Given the description of an element on the screen output the (x, y) to click on. 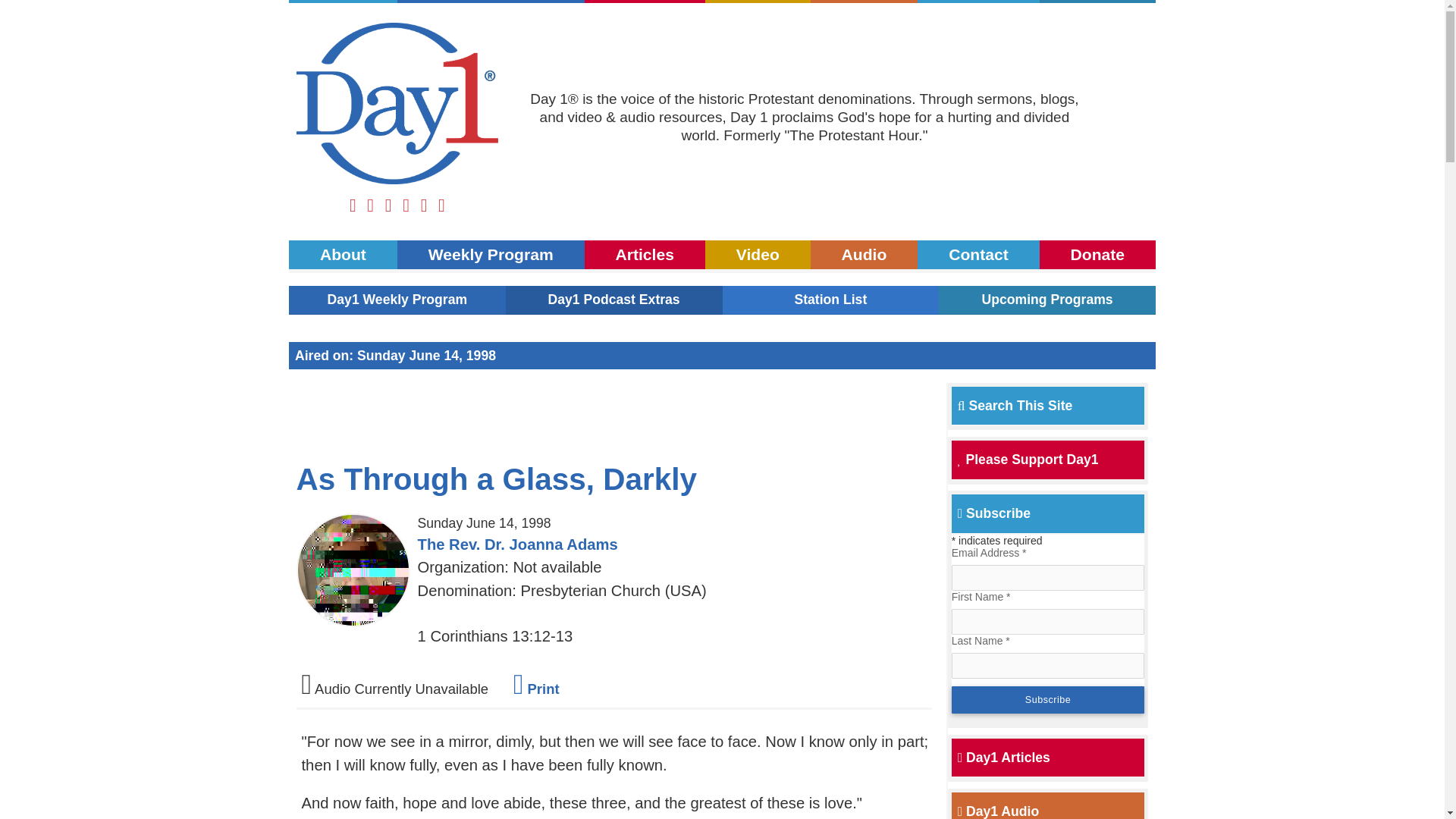
Day1 Articles (1003, 757)
About Day1 (342, 1)
Audio (864, 254)
Video (757, 254)
Contact (978, 254)
Donate (1097, 1)
Day1 Audio (864, 254)
Day1 Video (757, 1)
Weekly Program (491, 1)
Audio (864, 1)
Day1 Audio (998, 811)
Day1 Audio (864, 1)
Day 1Articles (644, 254)
Subscribe (1048, 699)
Day1 Video (757, 254)
